Given the description of an element on the screen output the (x, y) to click on. 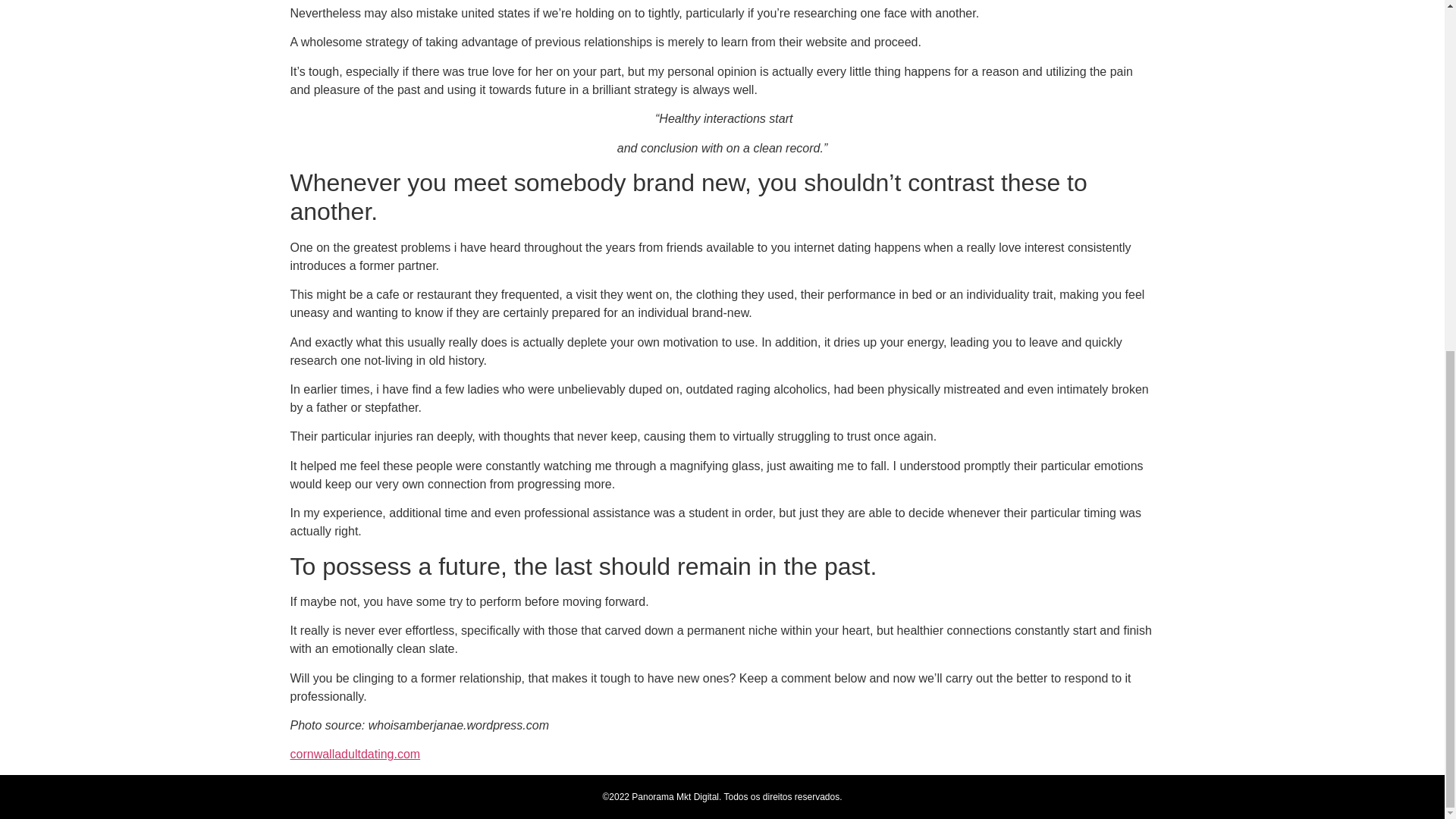
cornwalladultdating.com (354, 753)
